Given the description of an element on the screen output the (x, y) to click on. 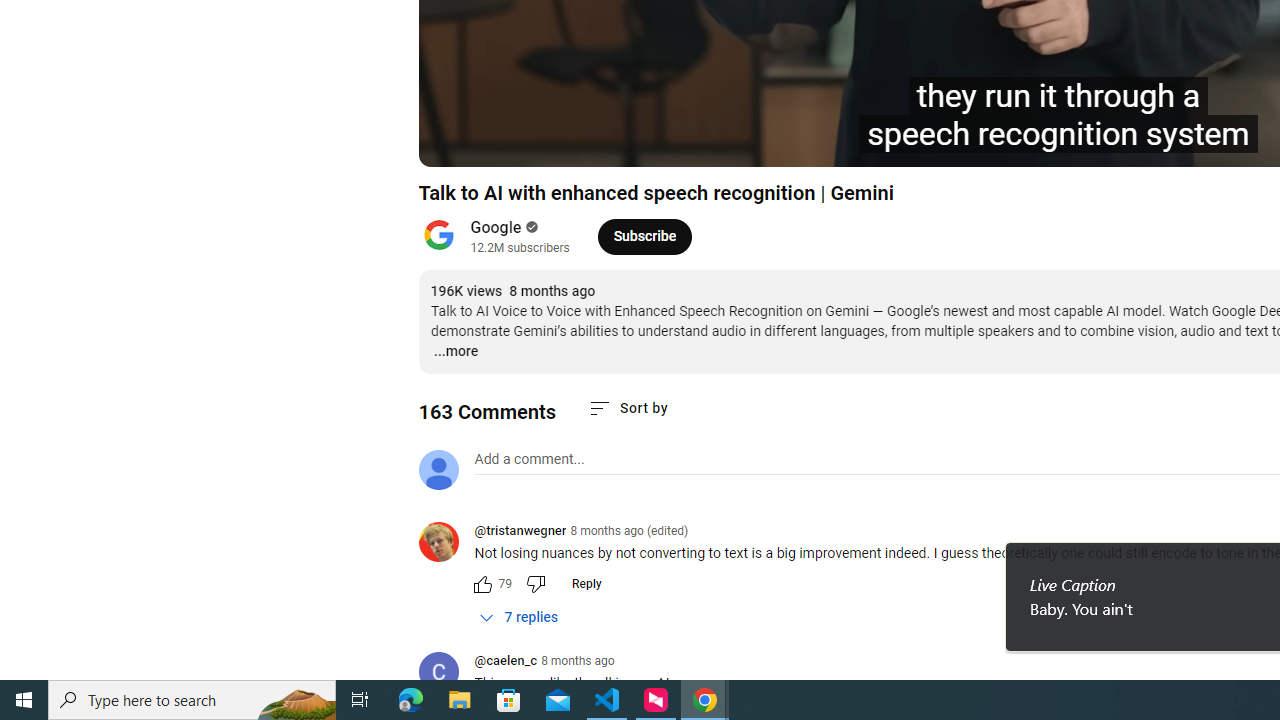
Dislike this comment (534, 583)
Previous (SHIFT+p) (456, 142)
Sort comments (627, 408)
Default profile photo (438, 470)
@caelen_c (446, 673)
Like this comment along with 79 other people (482, 583)
Google (496, 227)
Play (k) (502, 142)
